Given the description of an element on the screen output the (x, y) to click on. 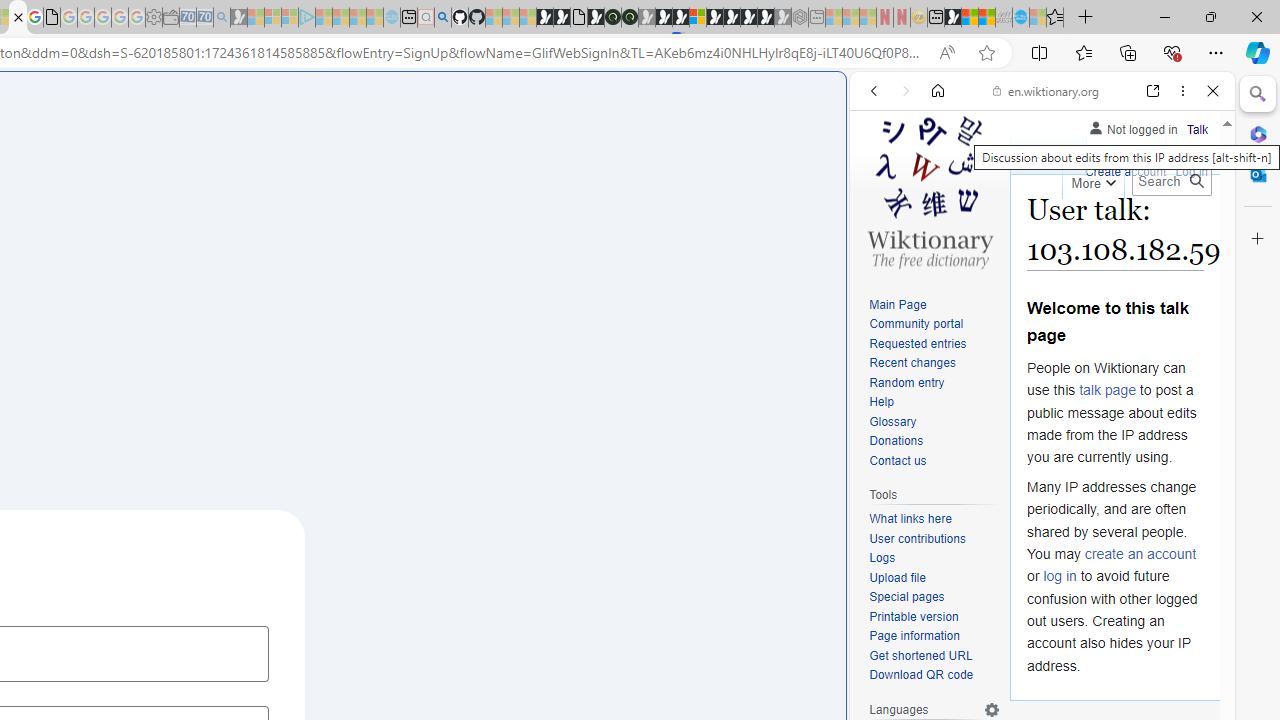
Tabs you've opened (276, 265)
Log in (1191, 172)
Logs (882, 557)
Donations (896, 441)
Get shortened URL (920, 655)
Special pages (934, 597)
Language settings (992, 709)
